Given the description of an element on the screen output the (x, y) to click on. 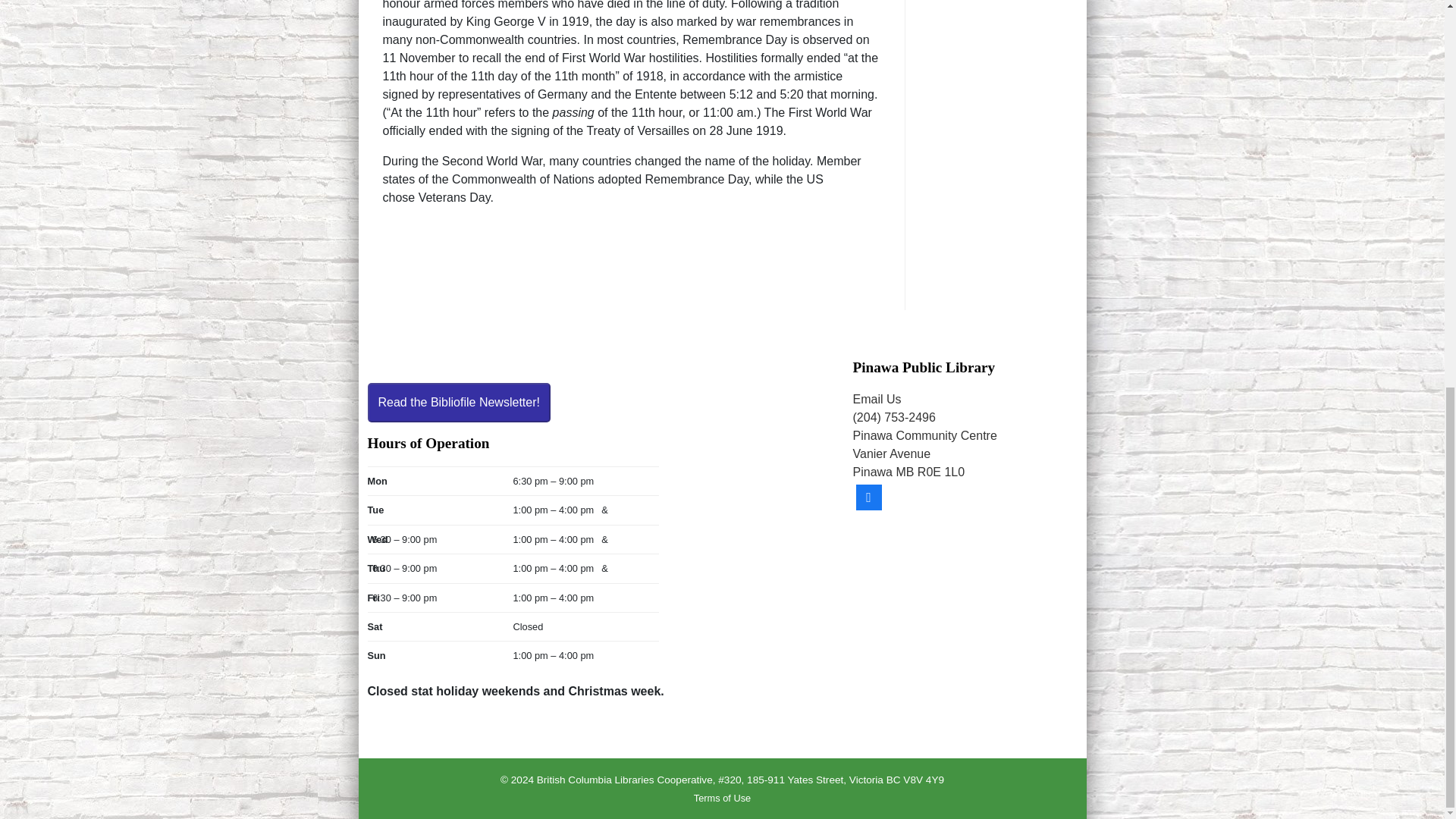
Terms of Use (722, 797)
Google Maps (964, 627)
Facebook (868, 495)
